Given the description of an element on the screen output the (x, y) to click on. 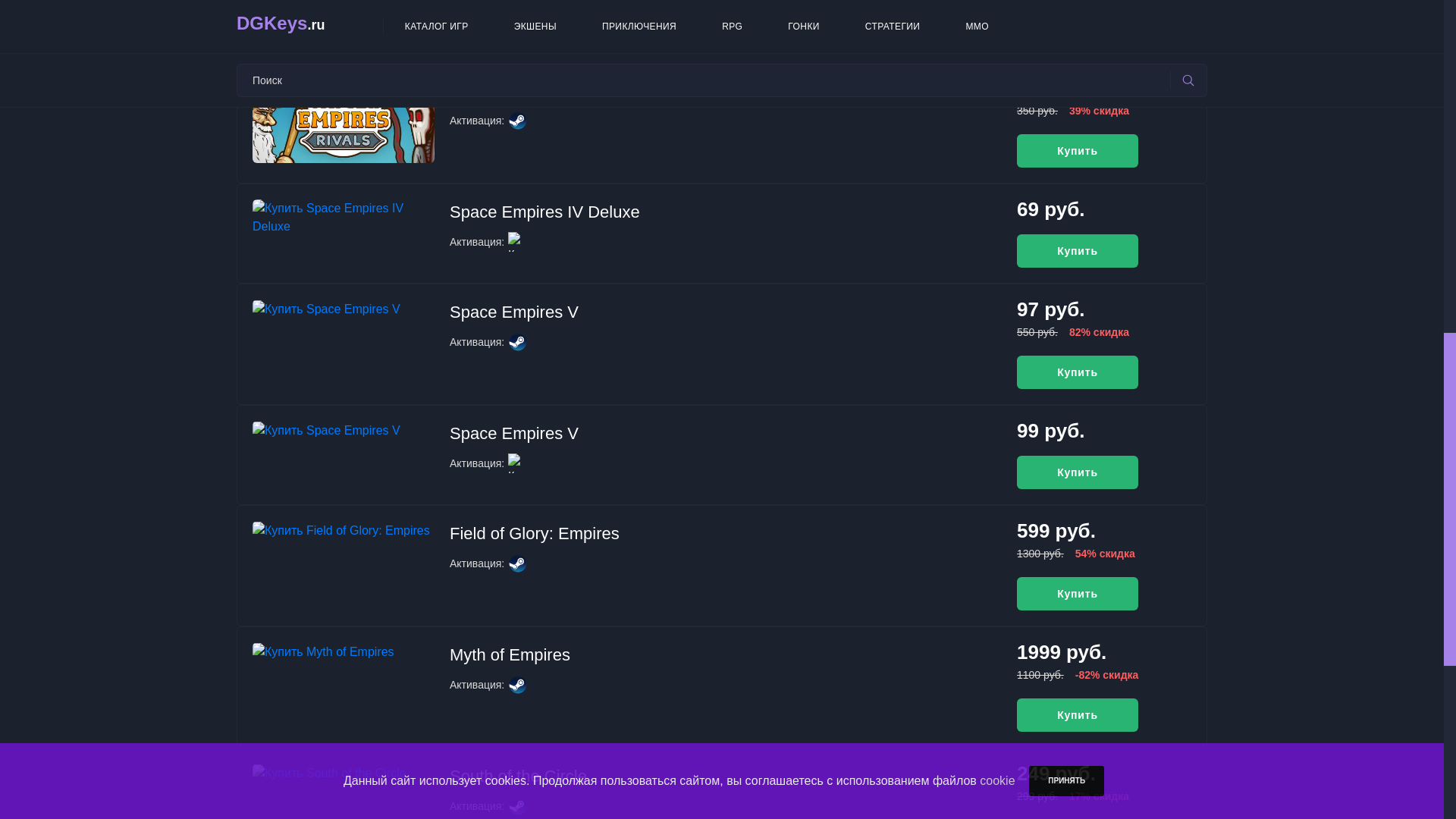
South of the Circle (517, 775)
Space Empires V (513, 433)
Circle Empires (503, 90)
Field of Glory: Empires (534, 533)
Myth of Empires (509, 654)
Space Empires IV Deluxe (544, 211)
Space Empires V (513, 311)
